Given the description of an element on the screen output the (x, y) to click on. 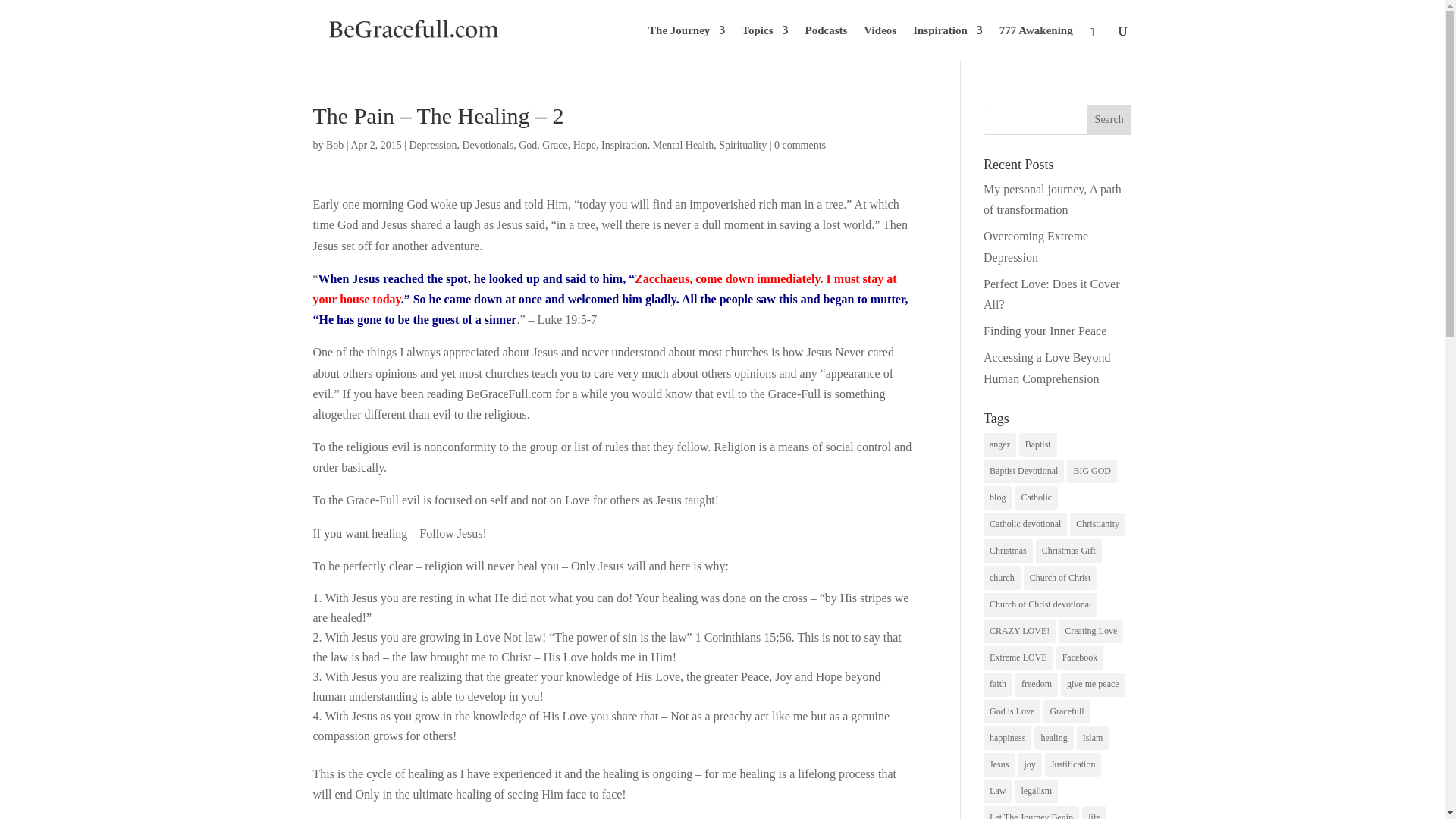
Depression (433, 144)
The Journey (686, 42)
Grace (554, 144)
God (527, 144)
Topics (764, 42)
Hope (584, 144)
Posts by Bob (334, 144)
Inspiration (947, 42)
Bob (334, 144)
Search (1109, 119)
Mental Health (682, 144)
Devotionals (487, 144)
777 Awakening (1035, 42)
0 comments (799, 144)
Spirituality (743, 144)
